Given the description of an element on the screen output the (x, y) to click on. 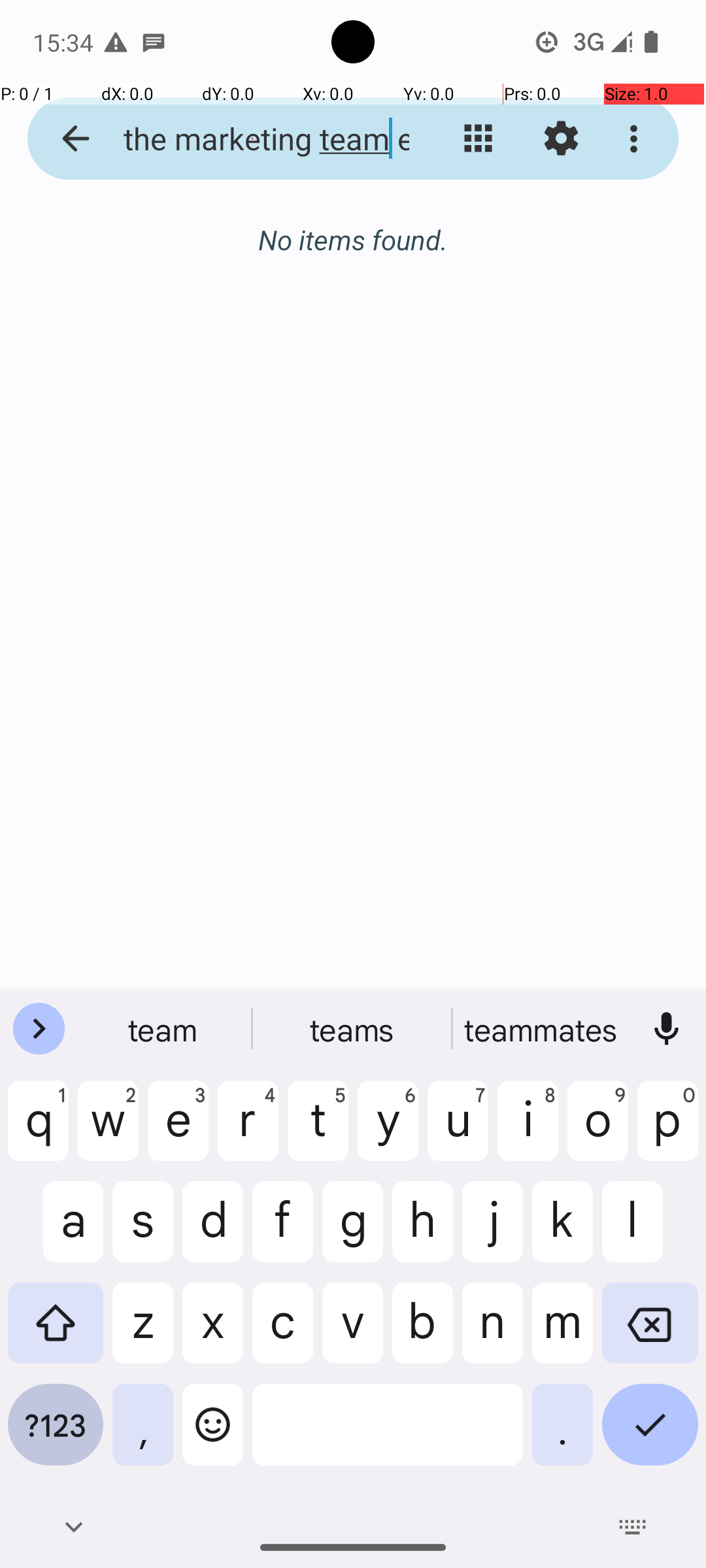
upcomingmeeting with the marketing team events Element type: android.widget.EditText (252, 138)
team Element type: android.widget.FrameLayout (163, 1028)
events Element type: android.widget.FrameLayout (352, 1028)
for Element type: android.widget.FrameLayout (541, 1028)
